Given the description of an element on the screen output the (x, y) to click on. 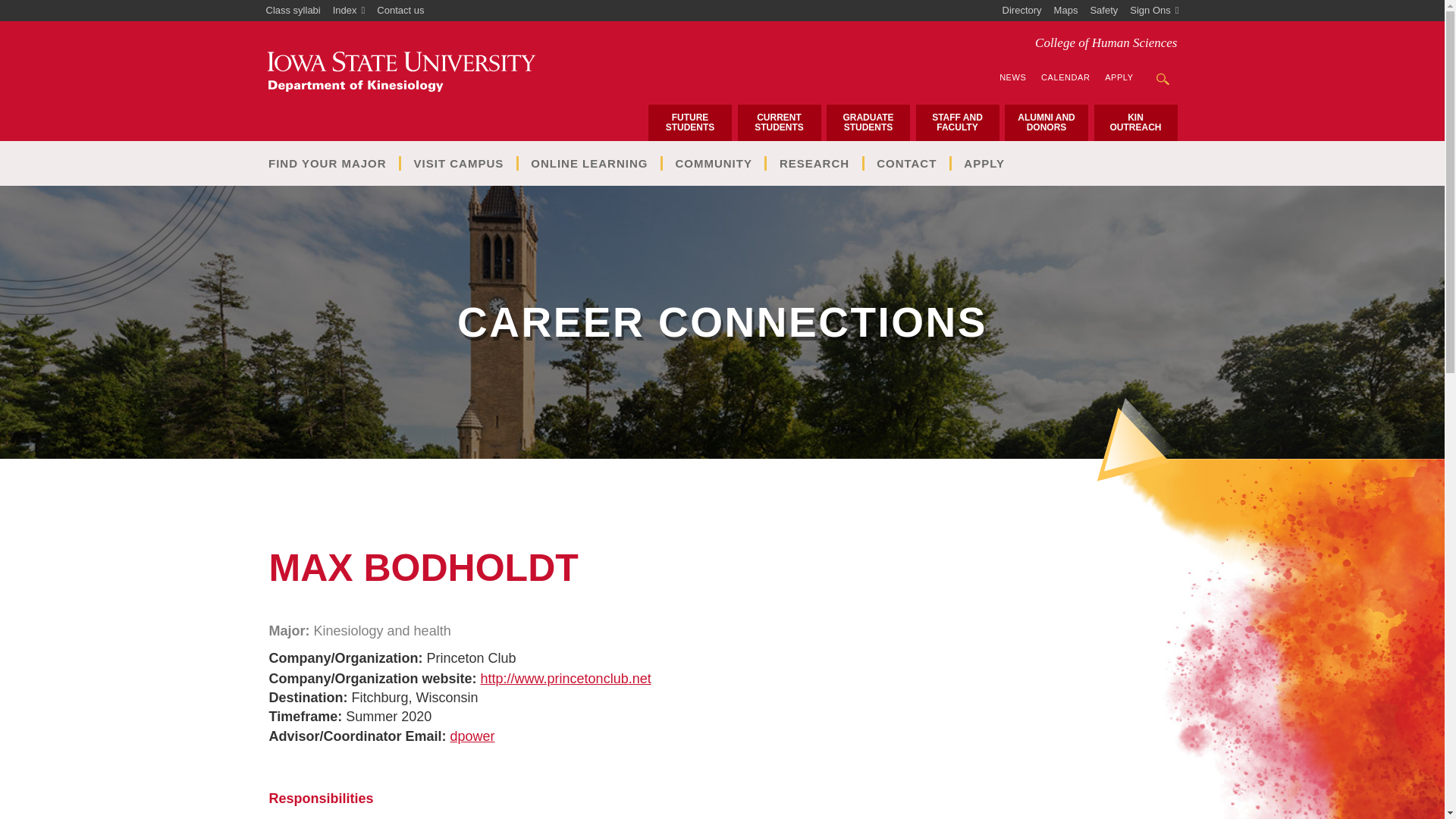
Safety (1103, 10)
Index (348, 10)
Contact us (400, 10)
Maps (1066, 10)
Class syllabi (292, 10)
Sign Ons (1154, 10)
Directory (1021, 10)
